Given the description of an element on the screen output the (x, y) to click on. 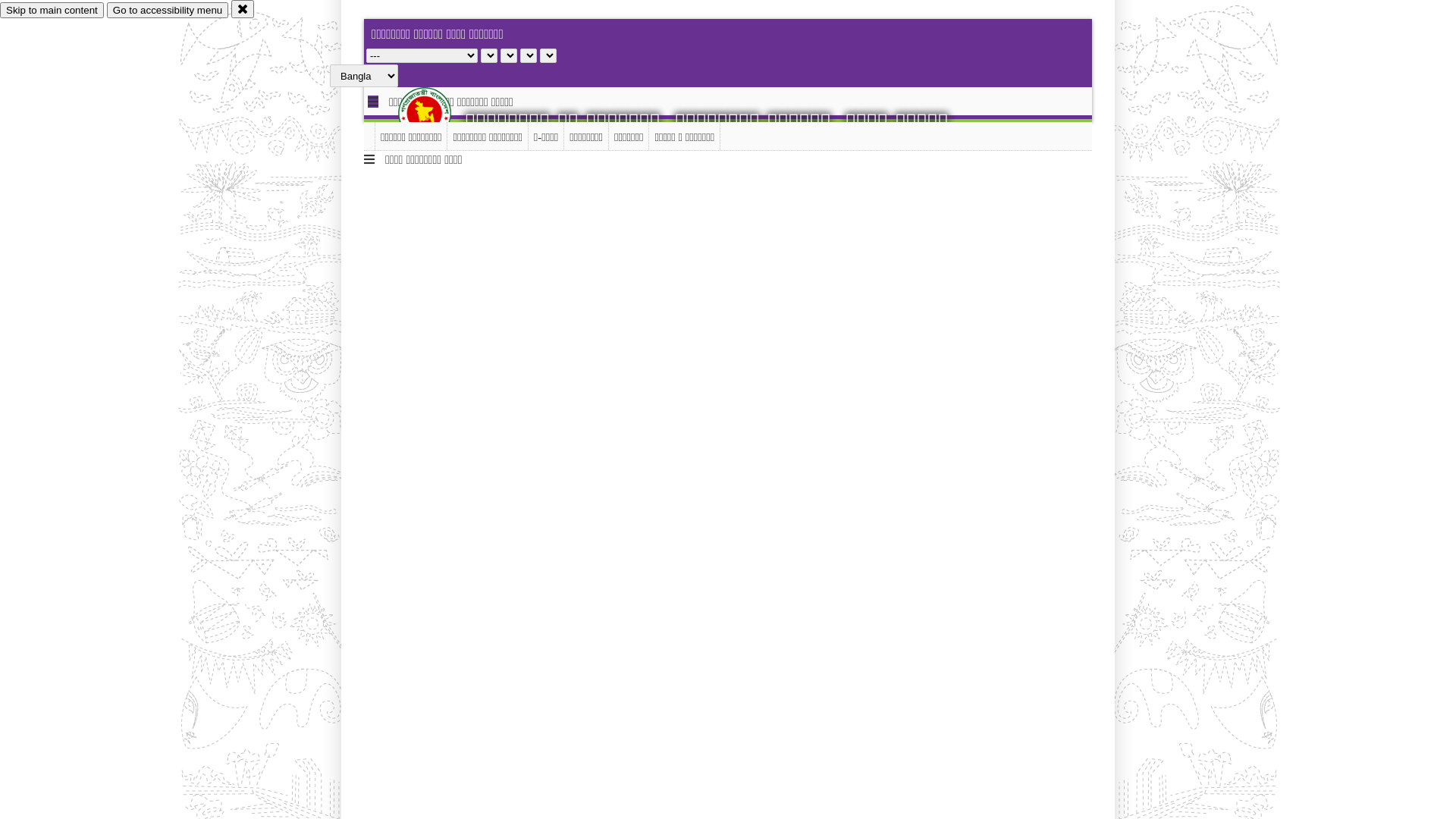
Go to accessibility menu Element type: text (167, 10)
close Element type: hover (242, 9)

                
             Element type: hover (437, 112)
Skip to main content Element type: text (51, 10)
